Given the description of an element on the screen output the (x, y) to click on. 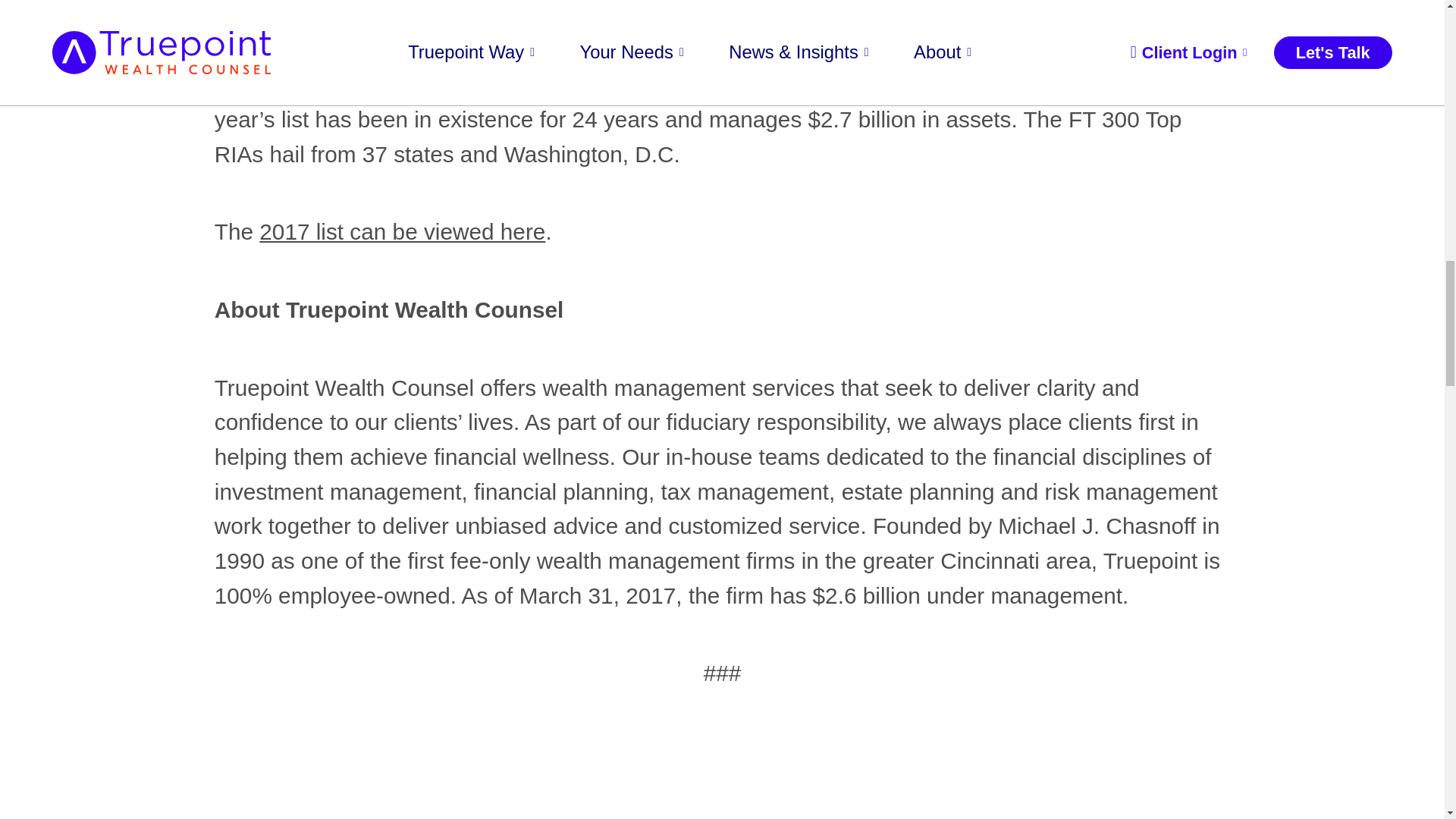
2017 list can be viewed here (401, 231)
